Given the description of an element on the screen output the (x, y) to click on. 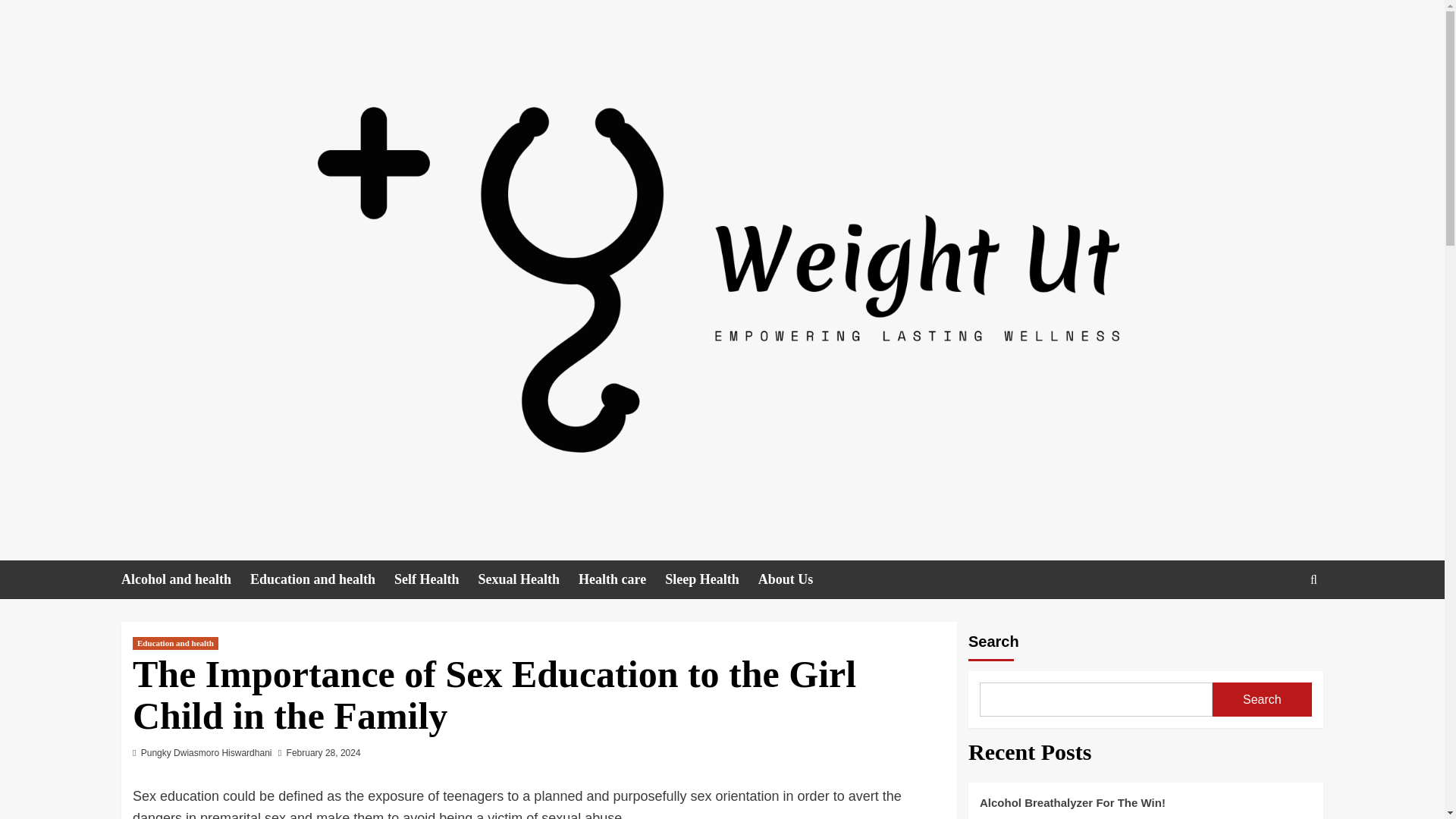
Sleep Health (711, 579)
Search (1278, 626)
Education and health (175, 643)
Education and health (322, 579)
About Us (795, 579)
Health care (621, 579)
Alcohol Breathalyzer For The Win! (1145, 806)
Alcohol and health (185, 579)
Self Health (436, 579)
Sexual Health (529, 579)
February 28, 2024 (323, 752)
Search (1261, 699)
Pungky Dwiasmoro Hiswardhani (206, 752)
